Given the description of an element on the screen output the (x, y) to click on. 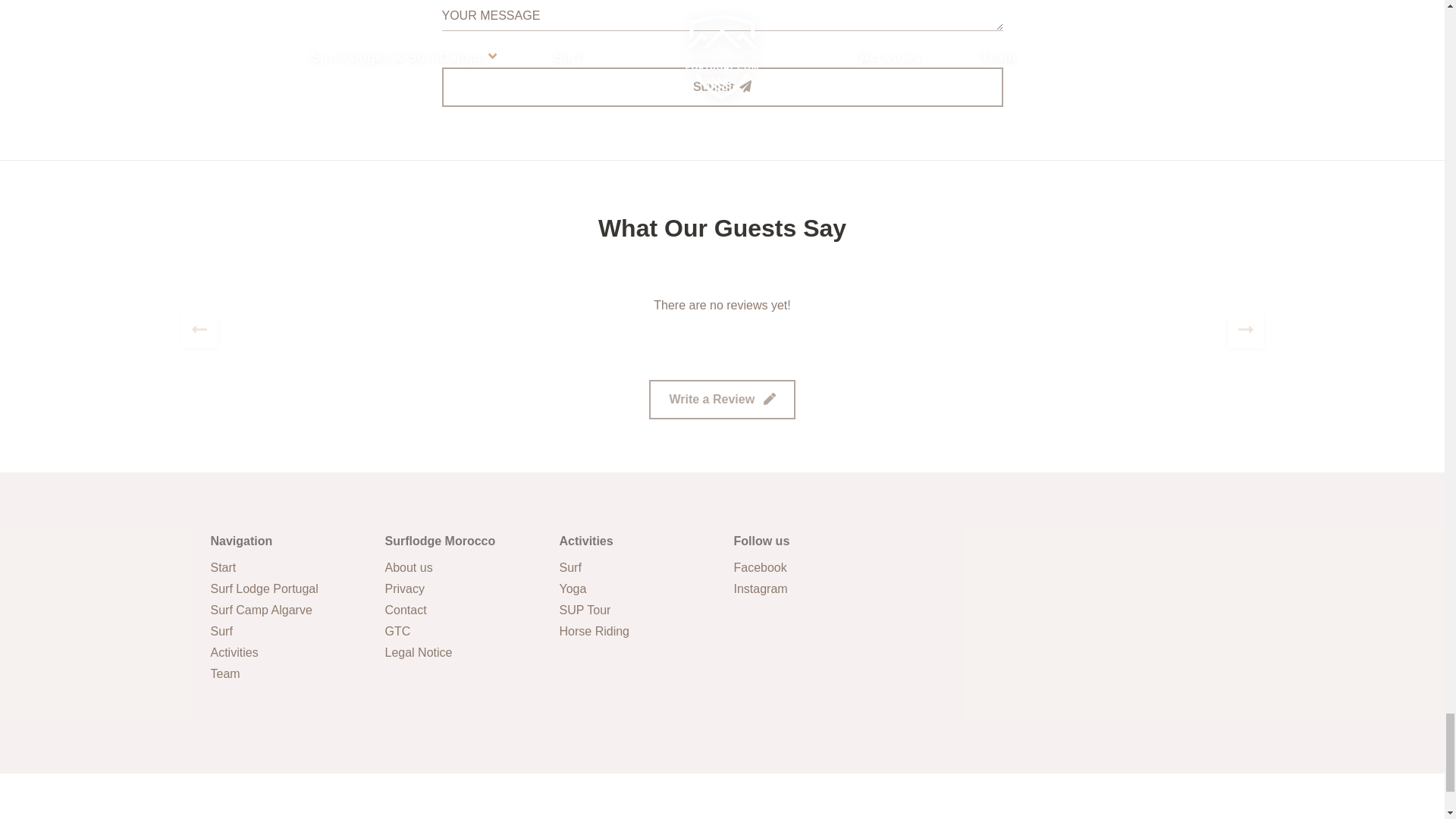
Submit (722, 87)
Write a Review (721, 399)
